Given the description of an element on the screen output the (x, y) to click on. 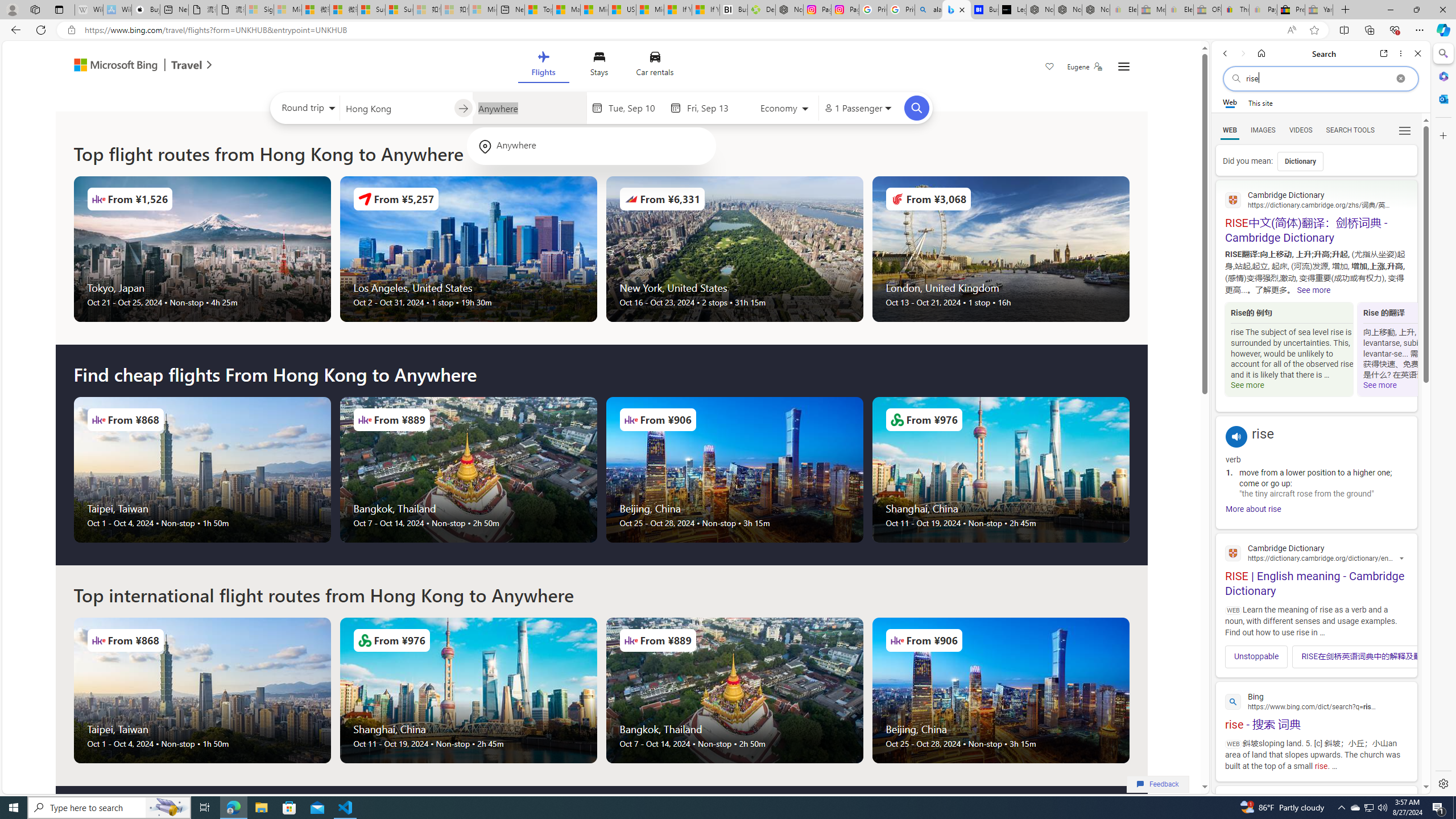
Anywhere (590, 145)
Flights (542, 65)
